Given the description of an element on the screen output the (x, y) to click on. 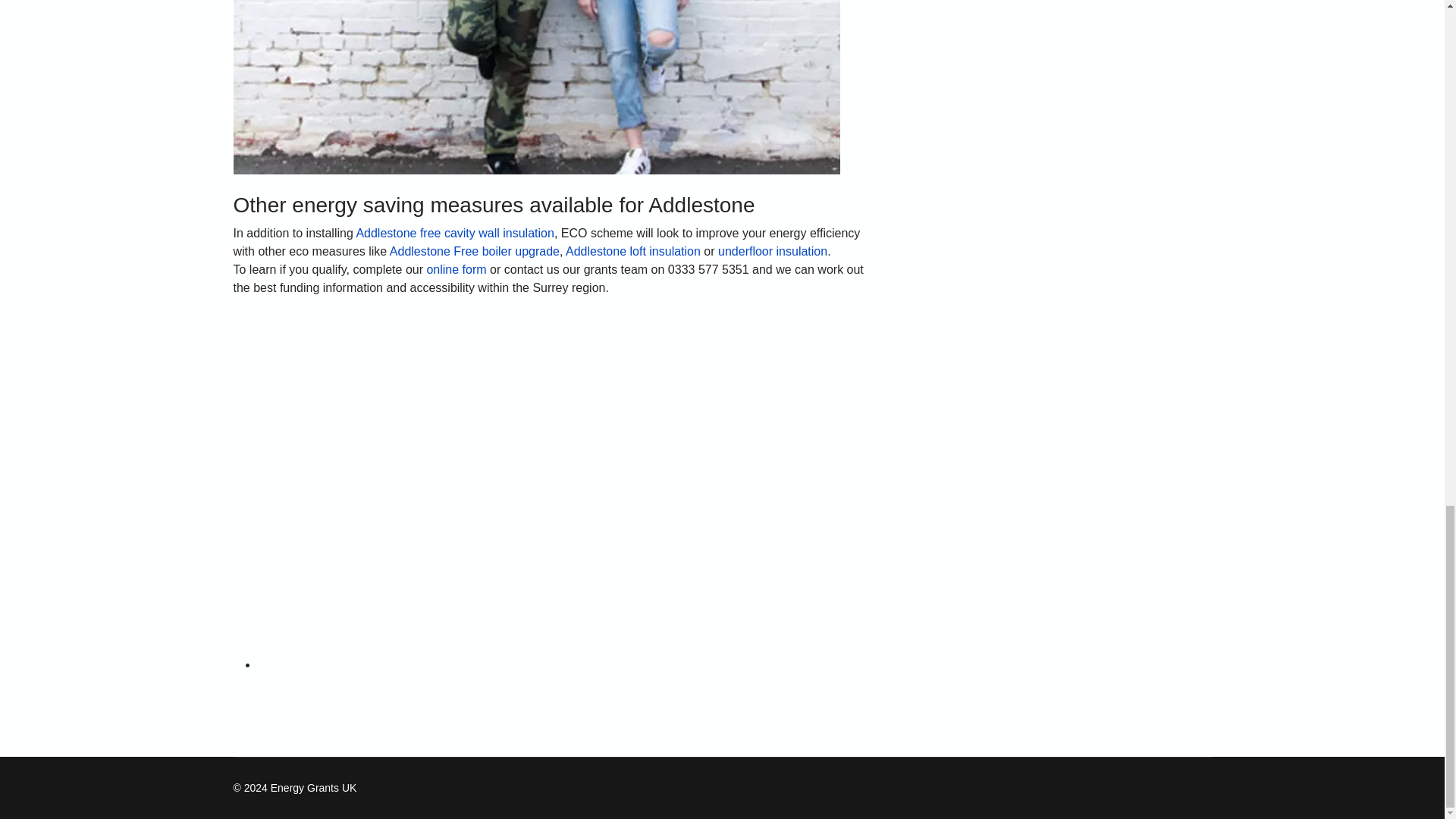
underfloor insulation (772, 250)
online form (456, 269)
Addlestone free cavity wall insulation (454, 232)
Addlestone Free boiler upgrade (474, 250)
Addlestone loft insulation (633, 250)
